Given the description of an element on the screen output the (x, y) to click on. 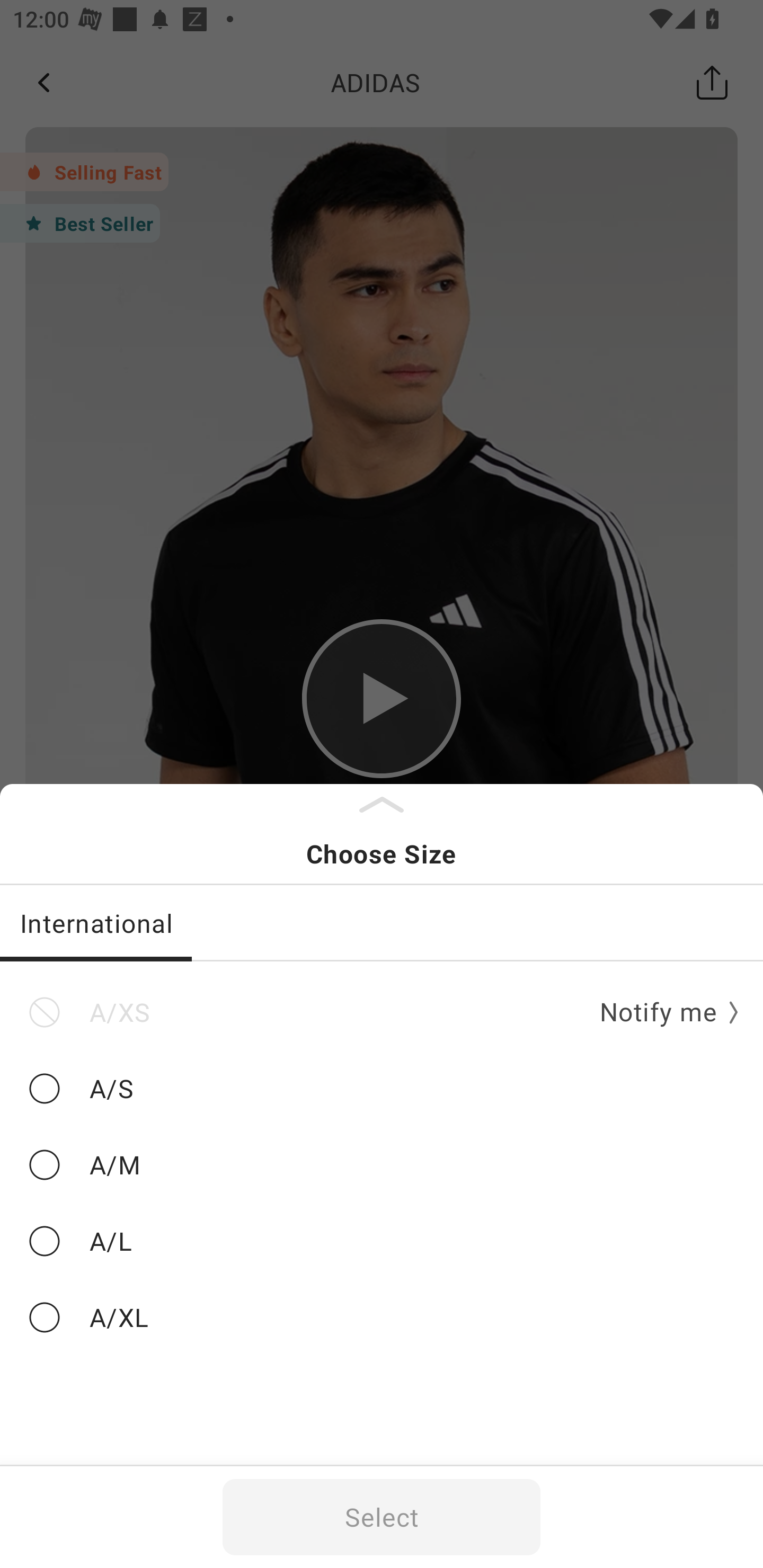
A/XS Notify me (381, 1011)
Notify me (661, 1012)
A/S (381, 1088)
A/M (381, 1164)
A/L (381, 1240)
A/XL (381, 1317)
Select (381, 1516)
